Given the description of an element on the screen output the (x, y) to click on. 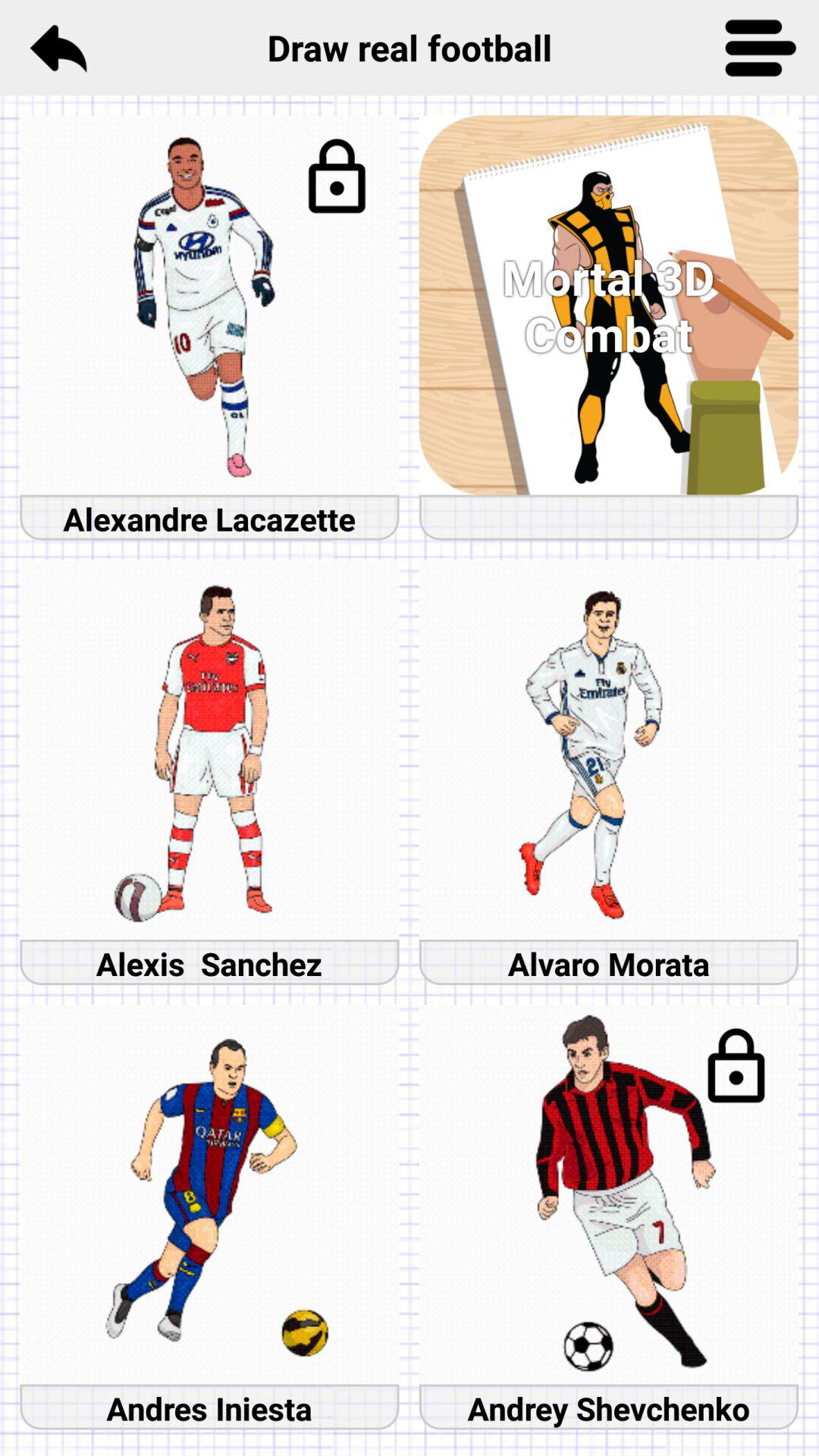
turn on item next to the draw real football icon (58, 47)
